Given the description of an element on the screen output the (x, y) to click on. 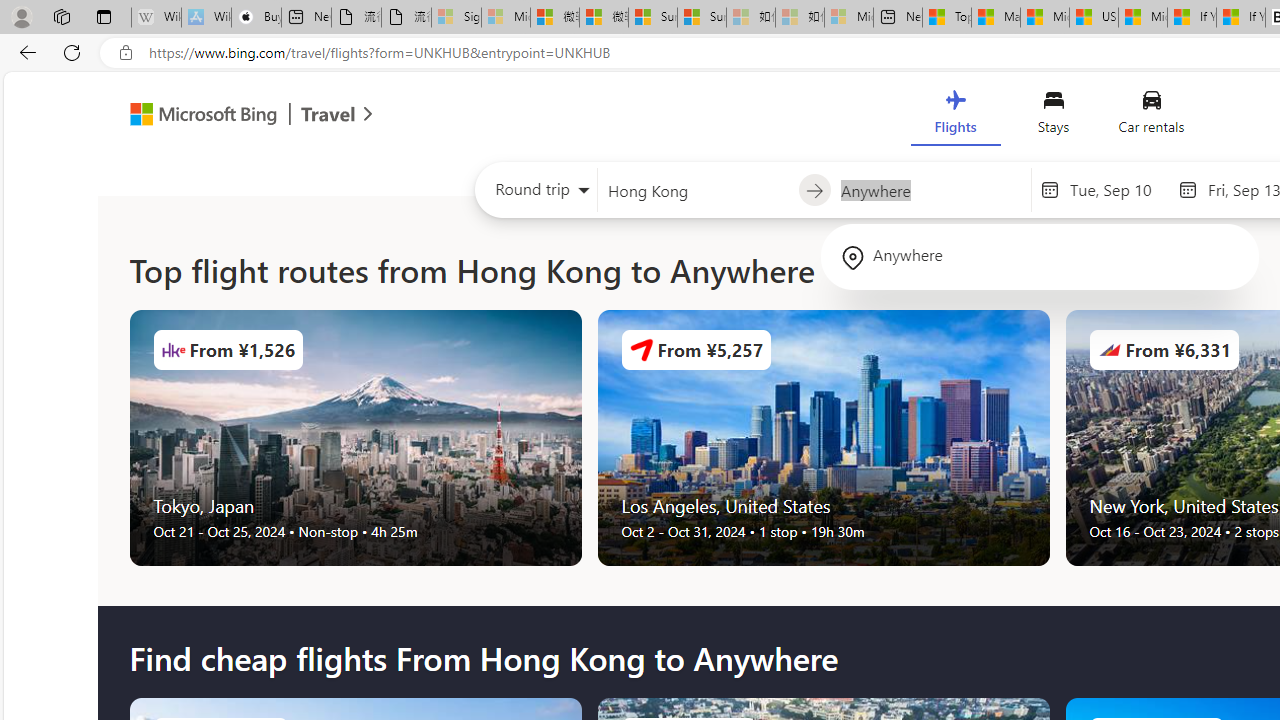
Class: msft-bing-logo msft-bing-logo-desktop (198, 114)
Top Stories - MSN (946, 17)
Microsoft Bing (194, 116)
Microsoft Services Agreement - Sleeping (505, 17)
Car rentals (1150, 116)
Leaving from? (697, 190)
